Given the description of an element on the screen output the (x, y) to click on. 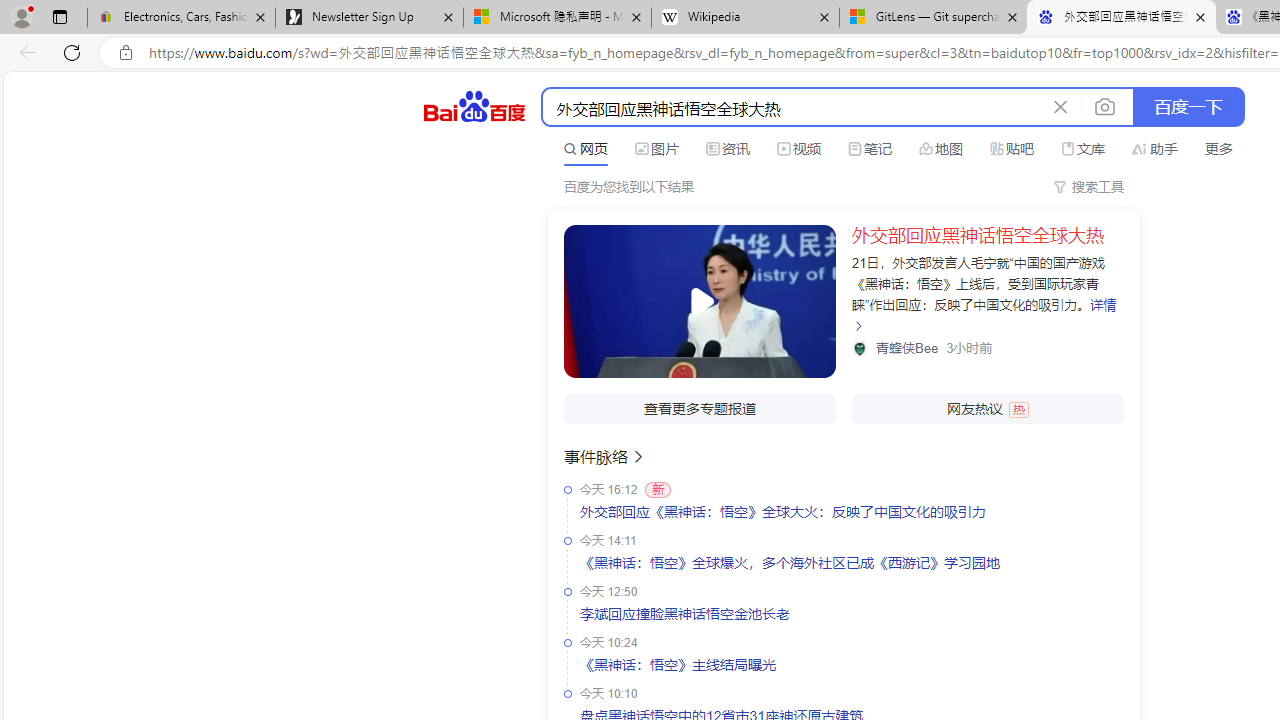
AutomationID: kw (793, 107)
